Given the description of an element on the screen output the (x, y) to click on. 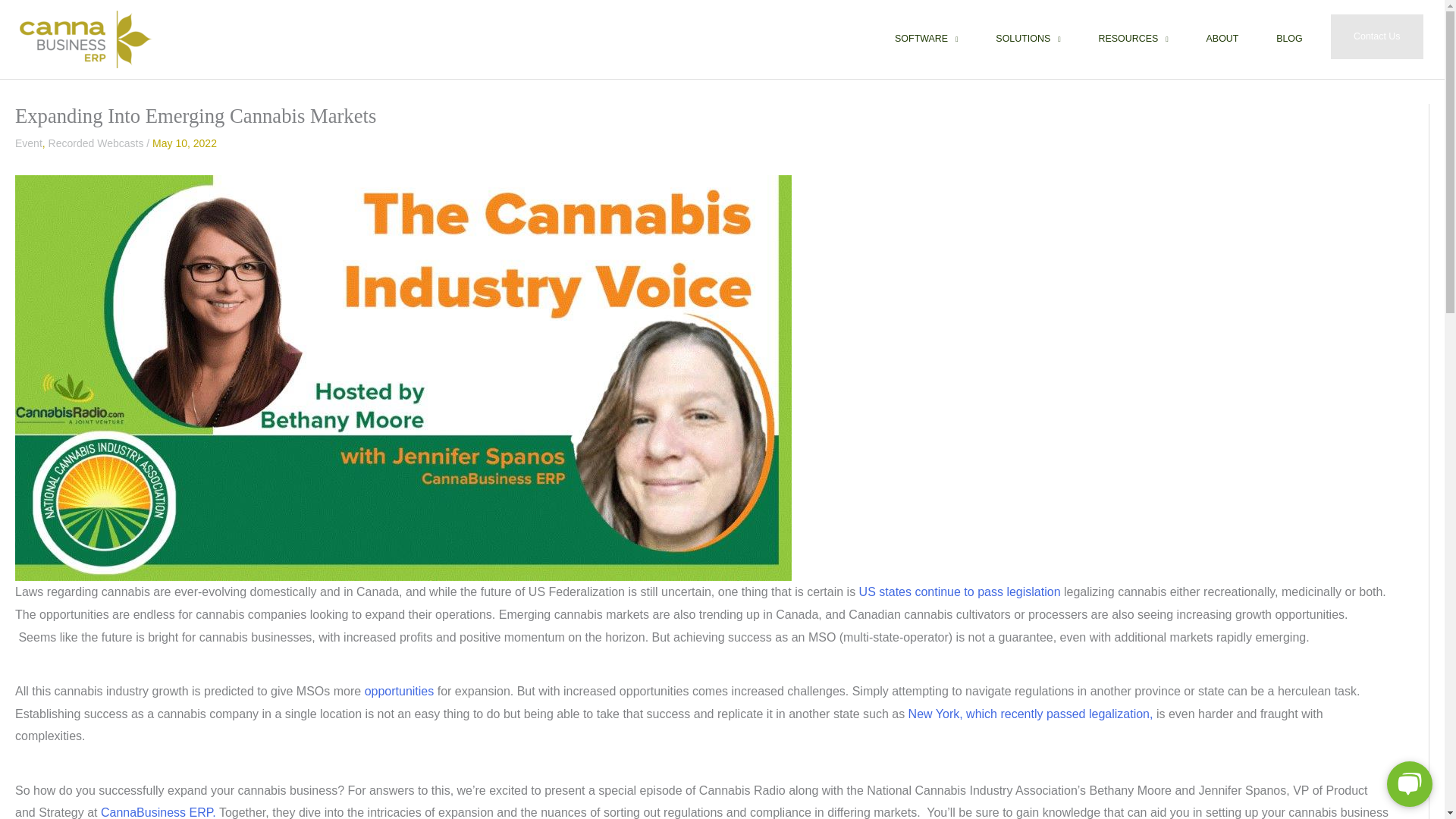
Contact Us (1376, 36)
New York, which recently passed legalization, (1030, 713)
Recorded Webcasts (96, 143)
CannaBusiness ERP. (157, 812)
ABOUT (1222, 39)
Event (28, 143)
SOLUTIONS (1027, 39)
US states continue to pass legislation (960, 591)
RESOURCES (1134, 39)
opportunities (399, 690)
SOFTWARE (926, 39)
